Given the description of an element on the screen output the (x, y) to click on. 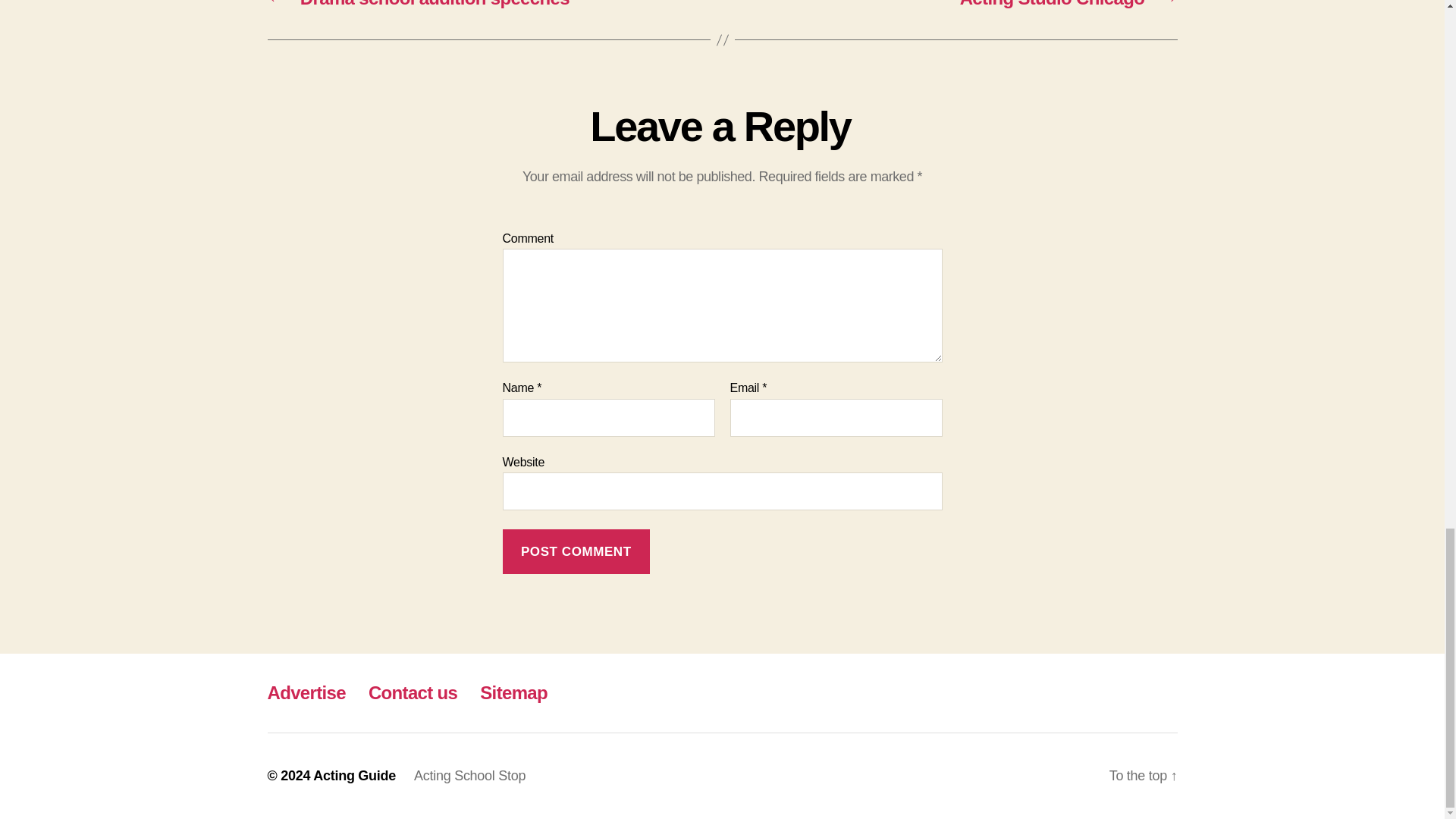
Post Comment (575, 551)
